Given the description of an element on the screen output the (x, y) to click on. 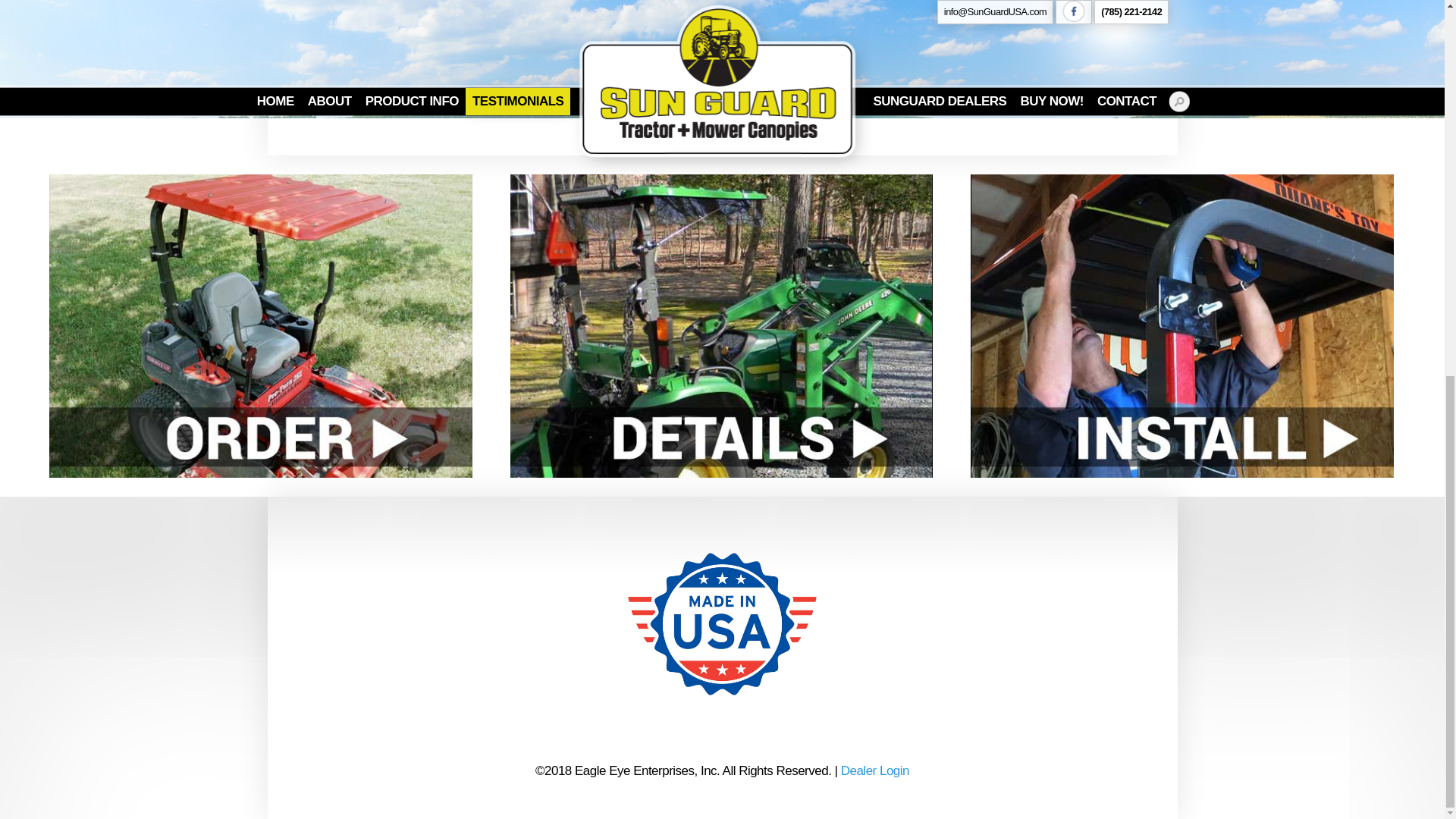
Dealer Login (874, 770)
IMG 5342 (582, 56)
